Given the description of an element on the screen output the (x, y) to click on. 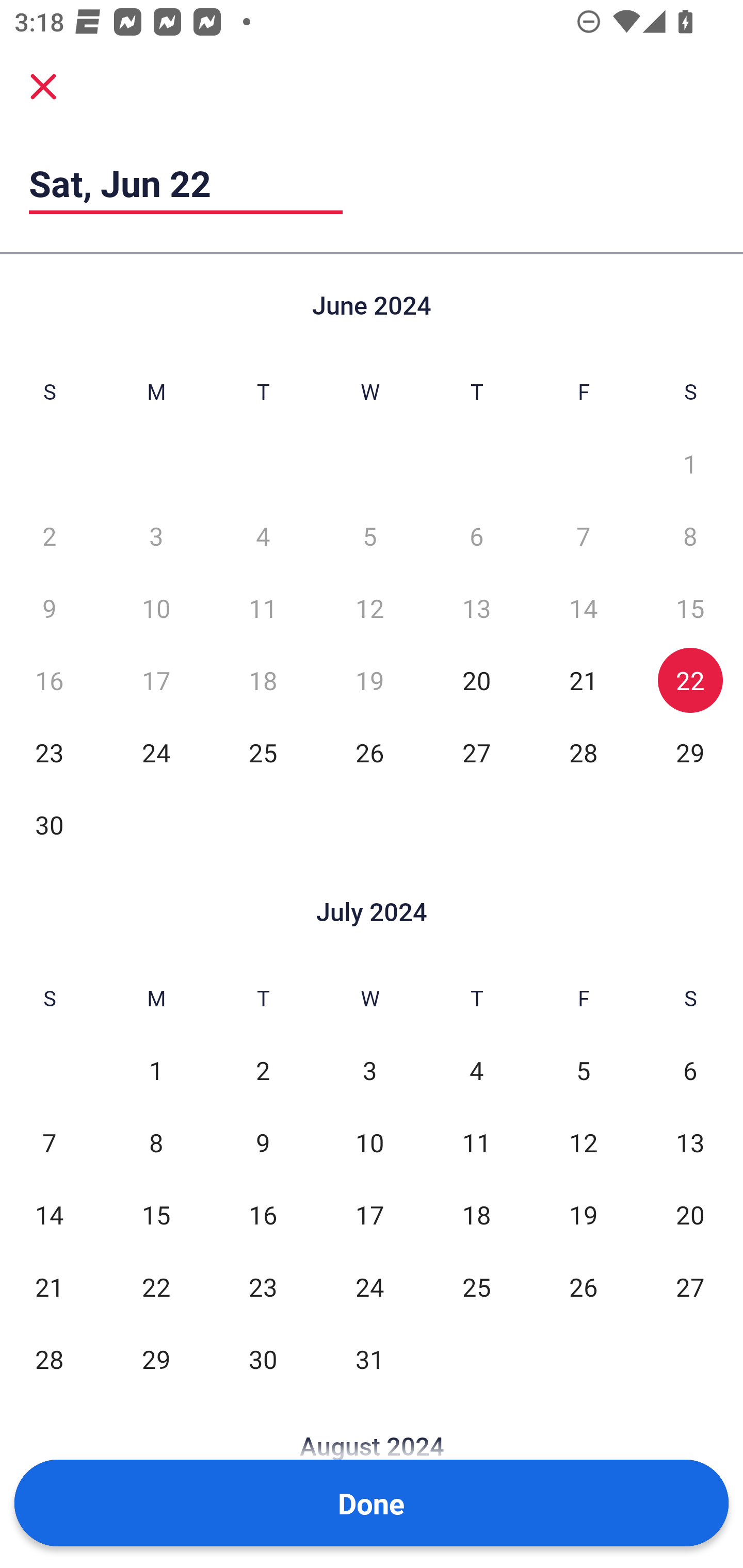
Cancel (43, 86)
Sat, Jun 22 (185, 182)
1 Sat, Jun 1, Not Selected (690, 464)
2 Sun, Jun 2, Not Selected (49, 536)
3 Mon, Jun 3, Not Selected (156, 536)
4 Tue, Jun 4, Not Selected (263, 536)
5 Wed, Jun 5, Not Selected (369, 536)
6 Thu, Jun 6, Not Selected (476, 536)
7 Fri, Jun 7, Not Selected (583, 536)
8 Sat, Jun 8, Not Selected (690, 536)
9 Sun, Jun 9, Not Selected (49, 608)
10 Mon, Jun 10, Not Selected (156, 608)
11 Tue, Jun 11, Not Selected (263, 608)
12 Wed, Jun 12, Not Selected (369, 608)
13 Thu, Jun 13, Not Selected (476, 608)
14 Fri, Jun 14, Not Selected (583, 608)
15 Sat, Jun 15, Not Selected (690, 608)
16 Sun, Jun 16, Not Selected (49, 680)
17 Mon, Jun 17, Not Selected (156, 680)
18 Tue, Jun 18, Not Selected (263, 680)
19 Wed, Jun 19, Not Selected (369, 680)
20 Thu, Jun 20, Not Selected (476, 680)
21 Fri, Jun 21, Not Selected (583, 680)
22 Sat, Jun 22, Selected (690, 680)
23 Sun, Jun 23, Not Selected (49, 752)
24 Mon, Jun 24, Not Selected (156, 752)
25 Tue, Jun 25, Not Selected (263, 752)
26 Wed, Jun 26, Not Selected (369, 752)
27 Thu, Jun 27, Not Selected (476, 752)
28 Fri, Jun 28, Not Selected (583, 752)
29 Sat, Jun 29, Not Selected (690, 752)
30 Sun, Jun 30, Not Selected (49, 824)
1 Mon, Jul 1, Not Selected (156, 1070)
2 Tue, Jul 2, Not Selected (263, 1070)
3 Wed, Jul 3, Not Selected (369, 1070)
4 Thu, Jul 4, Not Selected (476, 1070)
5 Fri, Jul 5, Not Selected (583, 1070)
6 Sat, Jul 6, Not Selected (690, 1070)
7 Sun, Jul 7, Not Selected (49, 1143)
8 Mon, Jul 8, Not Selected (156, 1143)
9 Tue, Jul 9, Not Selected (263, 1143)
10 Wed, Jul 10, Not Selected (369, 1143)
11 Thu, Jul 11, Not Selected (476, 1143)
12 Fri, Jul 12, Not Selected (583, 1143)
13 Sat, Jul 13, Not Selected (690, 1143)
14 Sun, Jul 14, Not Selected (49, 1215)
15 Mon, Jul 15, Not Selected (156, 1215)
16 Tue, Jul 16, Not Selected (263, 1215)
17 Wed, Jul 17, Not Selected (369, 1215)
18 Thu, Jul 18, Not Selected (476, 1215)
19 Fri, Jul 19, Not Selected (583, 1215)
20 Sat, Jul 20, Not Selected (690, 1215)
21 Sun, Jul 21, Not Selected (49, 1287)
22 Mon, Jul 22, Not Selected (156, 1287)
23 Tue, Jul 23, Not Selected (263, 1287)
24 Wed, Jul 24, Not Selected (369, 1287)
25 Thu, Jul 25, Not Selected (476, 1287)
26 Fri, Jul 26, Not Selected (583, 1287)
27 Sat, Jul 27, Not Selected (690, 1287)
28 Sun, Jul 28, Not Selected (49, 1359)
29 Mon, Jul 29, Not Selected (156, 1359)
30 Tue, Jul 30, Not Selected (263, 1359)
31 Wed, Jul 31, Not Selected (369, 1359)
Done Button Done (371, 1502)
